Given the description of an element on the screen output the (x, y) to click on. 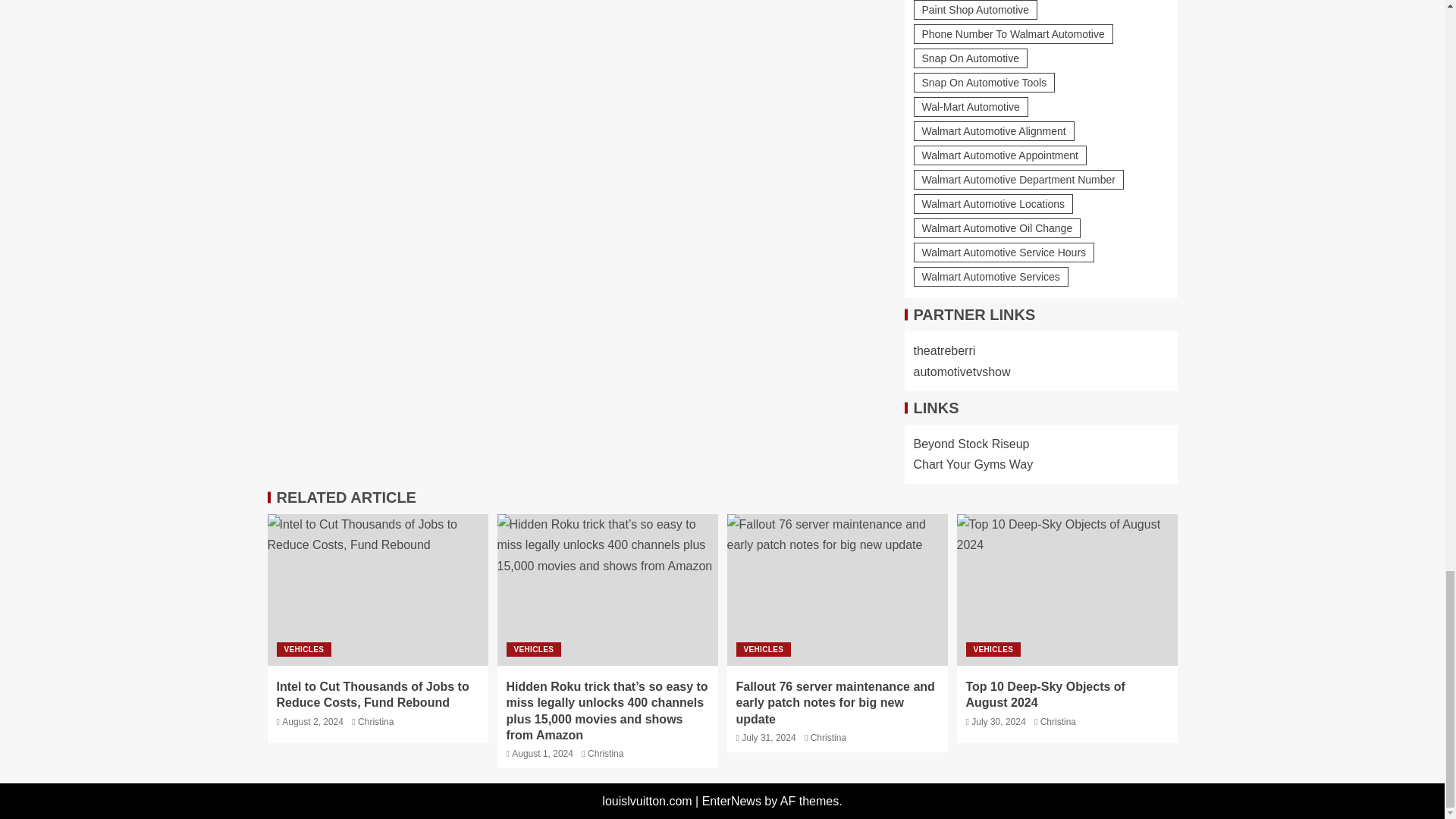
Intel to Cut Thousands of Jobs to Reduce Costs, Fund Rebound (376, 589)
